Given the description of an element on the screen output the (x, y) to click on. 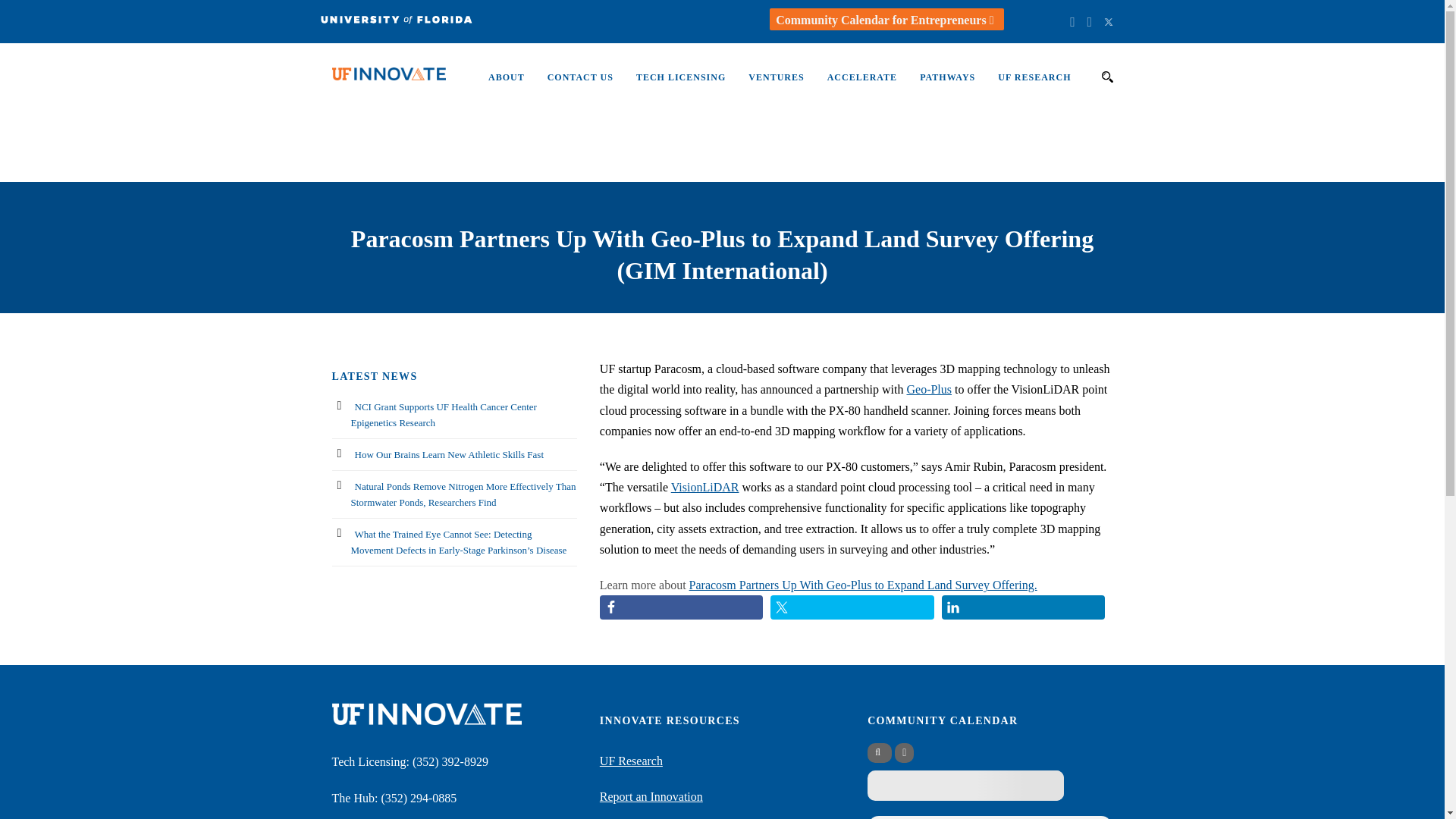
Share on Twitter (852, 607)
Share on Facebook (680, 607)
Share on LinkedIn (1023, 607)
Community Calendar for Entrepreneurs (886, 19)
Accelerate (850, 84)
